Given the description of an element on the screen output the (x, y) to click on. 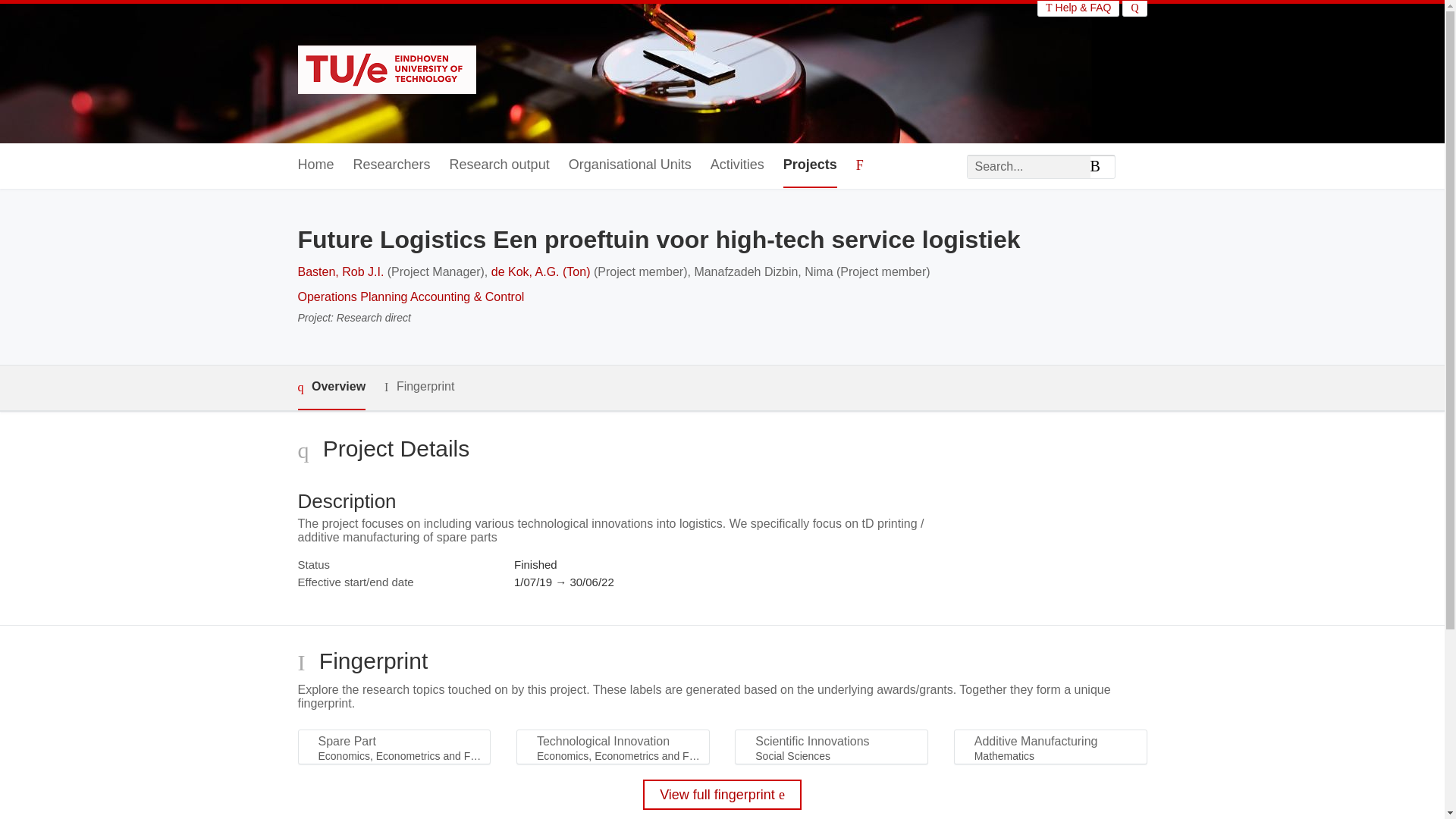
Projects (810, 165)
Eindhoven University of Technology research portal Home (386, 71)
Researchers (391, 165)
View full fingerprint (722, 794)
Overview (331, 387)
Organisational Units (630, 165)
Fingerprint (419, 386)
Basten, Rob J.I. (340, 271)
Research output (499, 165)
Activities (737, 165)
Home (315, 165)
